Given the description of an element on the screen output the (x, y) to click on. 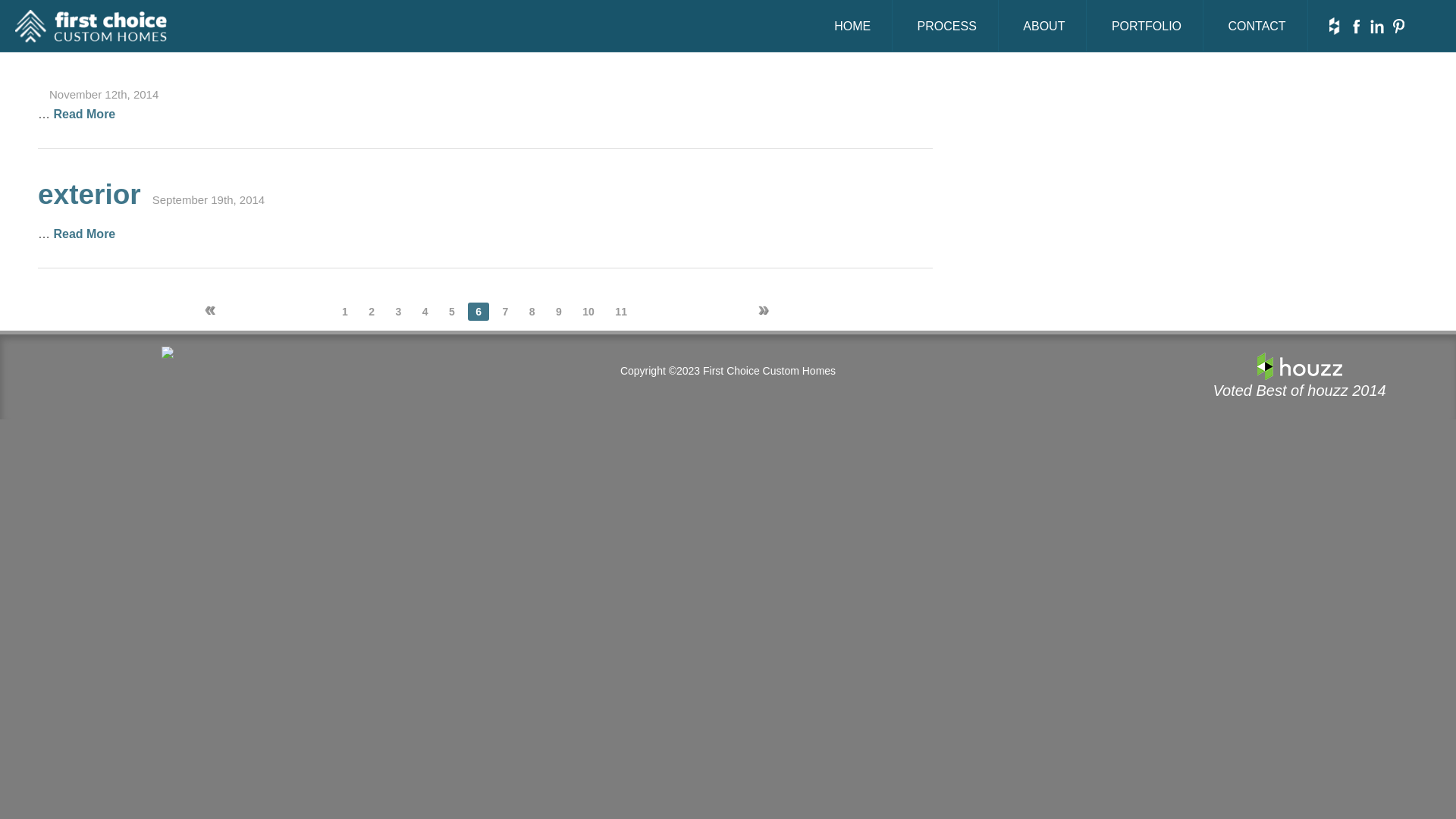
3 Element type: text (398, 311)
HOME Element type: text (851, 26)
8 Element type: text (531, 311)
CONTACT Element type: text (1257, 26)
PORTFOLIO Element type: text (1146, 26)
Read More Element type: text (84, 113)
9 Element type: text (558, 311)
exterior Element type: text (89, 194)
10 Element type: text (588, 311)
PROCESS Element type: text (946, 26)
houzz Element type: text (1299, 364)
First Choice Custom Homes Element type: text (90, 28)
Read More Element type: text (84, 233)
ABOUT Element type: text (1043, 26)
2 Element type: text (371, 311)
1 Element type: text (344, 311)
4 Element type: text (425, 311)
7 Element type: text (505, 311)
5 Element type: text (451, 311)
11 Element type: text (620, 311)
